Given the description of an element on the screen output the (x, y) to click on. 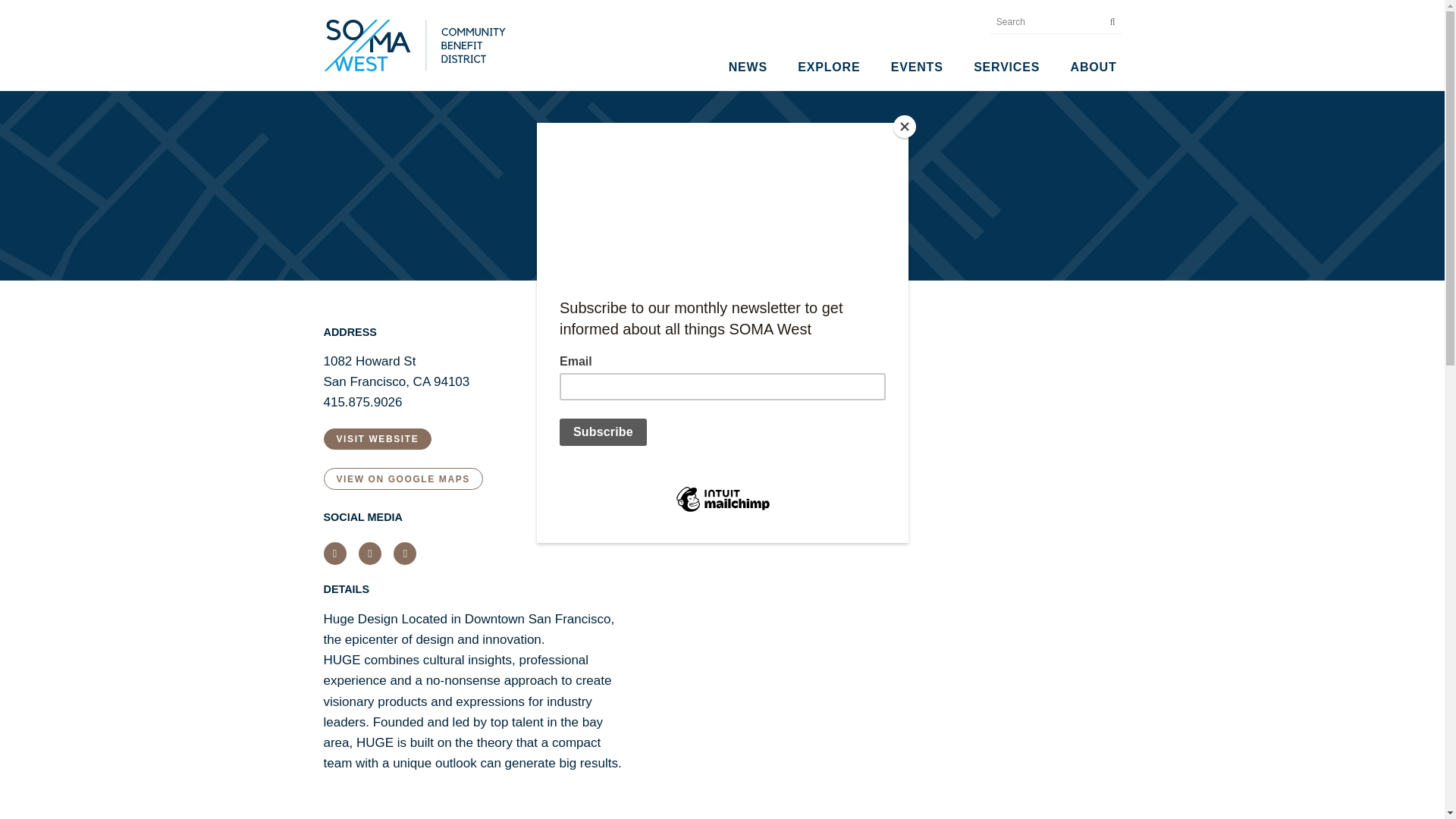
EVENTS (916, 67)
NEWS (747, 67)
ABOUT (1094, 67)
EXPLORE (828, 67)
SERVICES (1005, 67)
submit (1109, 21)
